Given the description of an element on the screen output the (x, y) to click on. 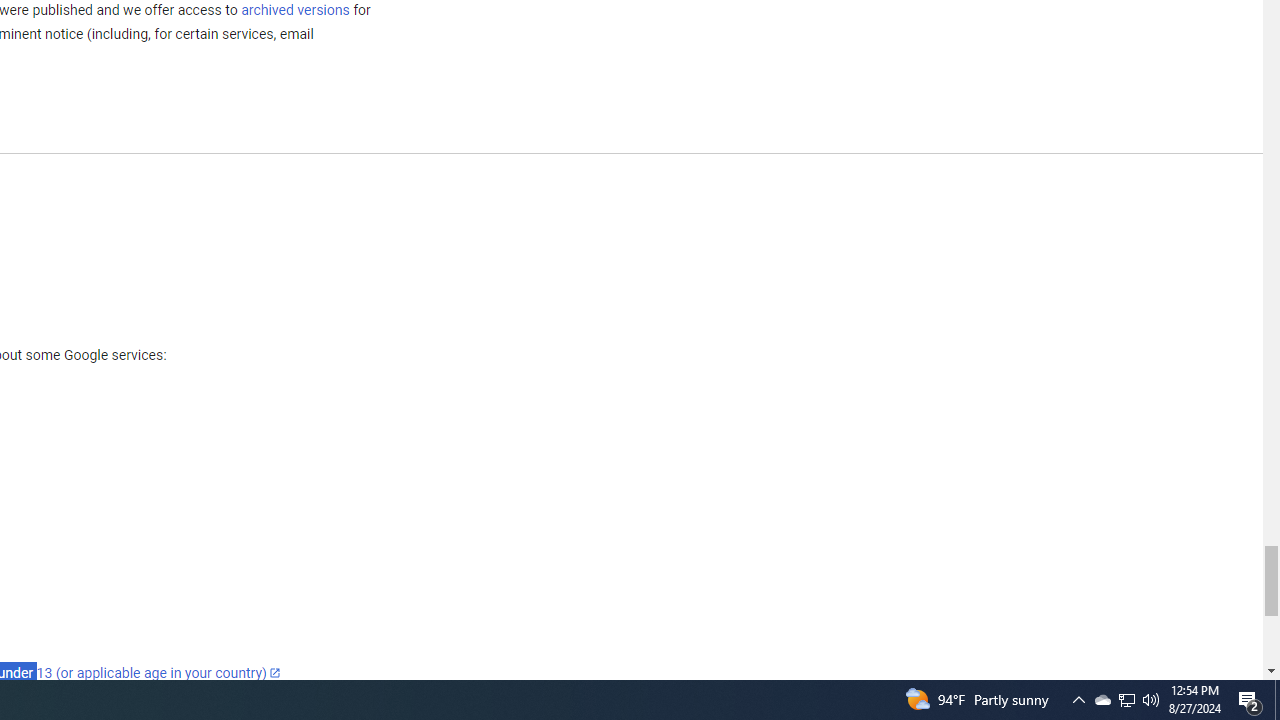
archived versions (294, 9)
